Given the description of an element on the screen output the (x, y) to click on. 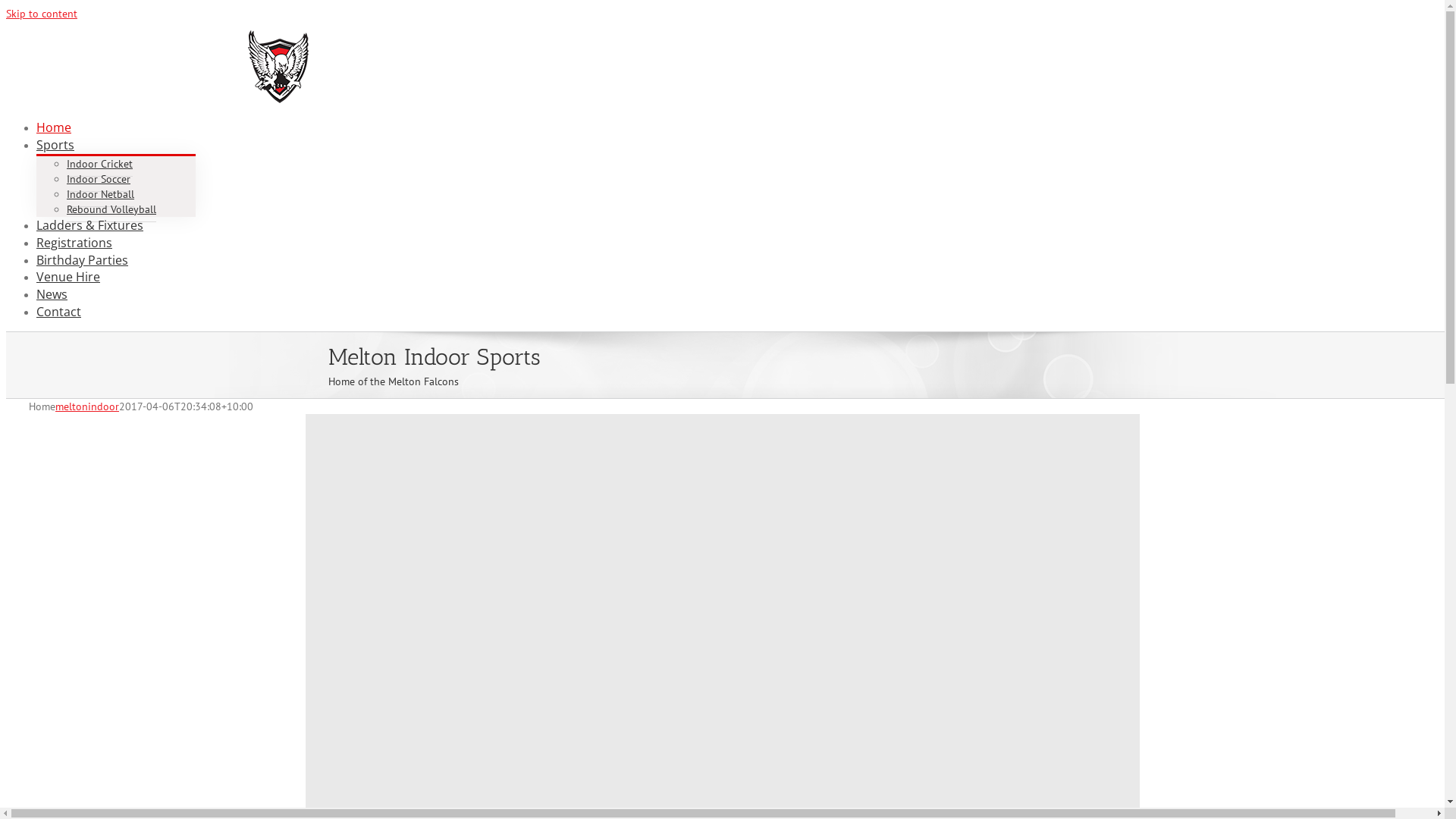
Registrations Element type: text (74, 242)
Venue Hire Element type: text (68, 276)
Skip to content Element type: text (41, 13)
info@meltonindoorsports.com.au Element type: text (158, 44)
Indoor Cricket Element type: text (99, 163)
Birthday Parties Element type: text (82, 259)
News Element type: text (51, 293)
Indoor Soccer Element type: text (98, 178)
meltonindoor Element type: text (87, 406)
03 9743 8888 Element type: text (57, 44)
Rebound Volleyball Element type: text (111, 209)
Indoor Netball Element type: text (100, 194)
Contact Element type: text (58, 311)
Home Element type: text (53, 127)
Twitter Element type: text (838, 34)
Ladders & Fixtures Element type: text (89, 224)
Sports Element type: text (55, 144)
Facebook Element type: text (770, 34)
